Given the description of an element on the screen output the (x, y) to click on. 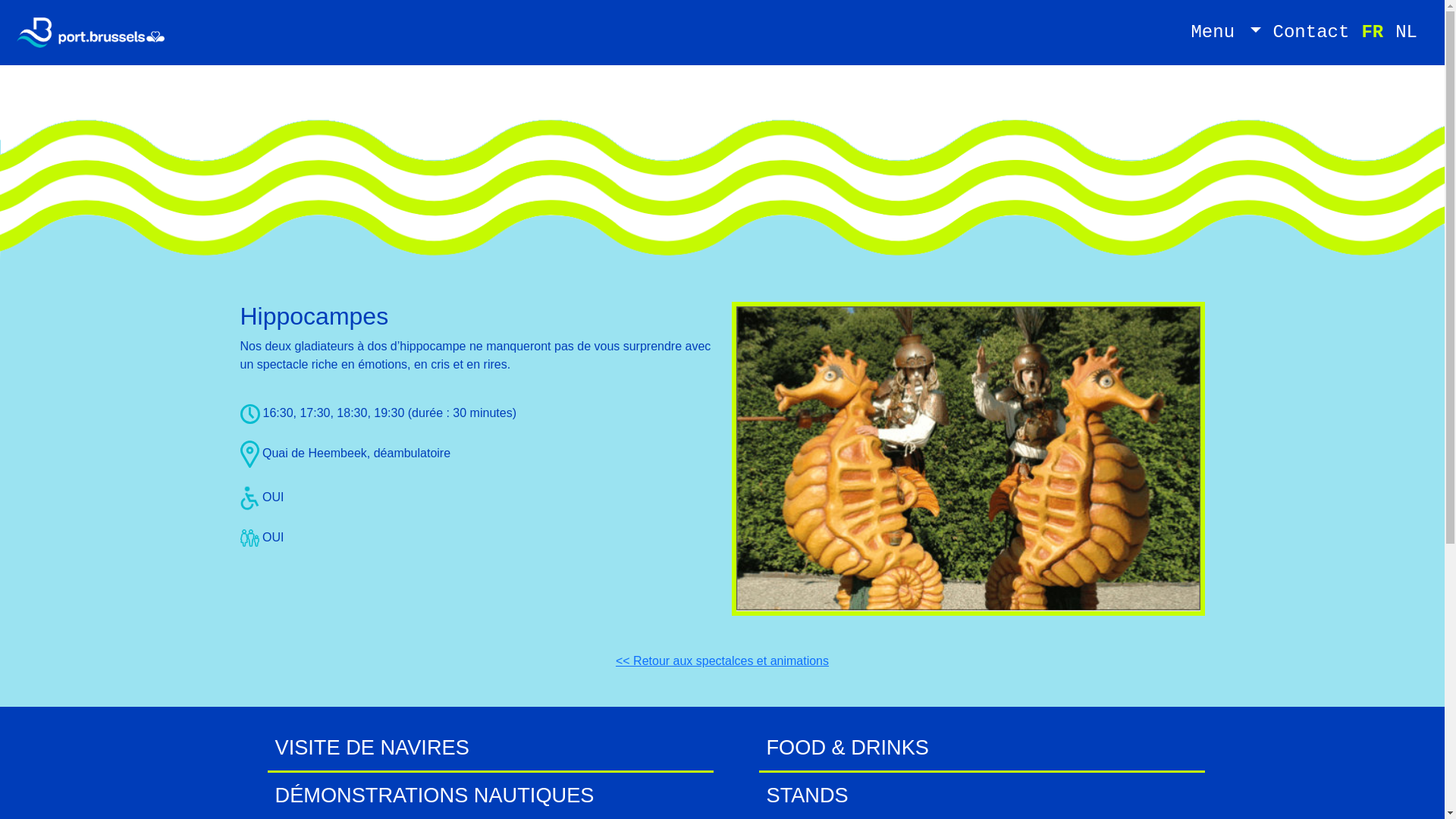
STANDS Element type: text (806, 794)
FR Element type: text (1372, 32)
FOOD & DRINKS Element type: text (846, 747)
VISITE DE NAVIRES Element type: text (371, 747)
Menu Element type: text (1225, 32)
NL Element type: text (1406, 32)
<< Retour aux spectalces et animations Element type: text (721, 660)
Contact Element type: text (1311, 32)
